Given the description of an element on the screen output the (x, y) to click on. 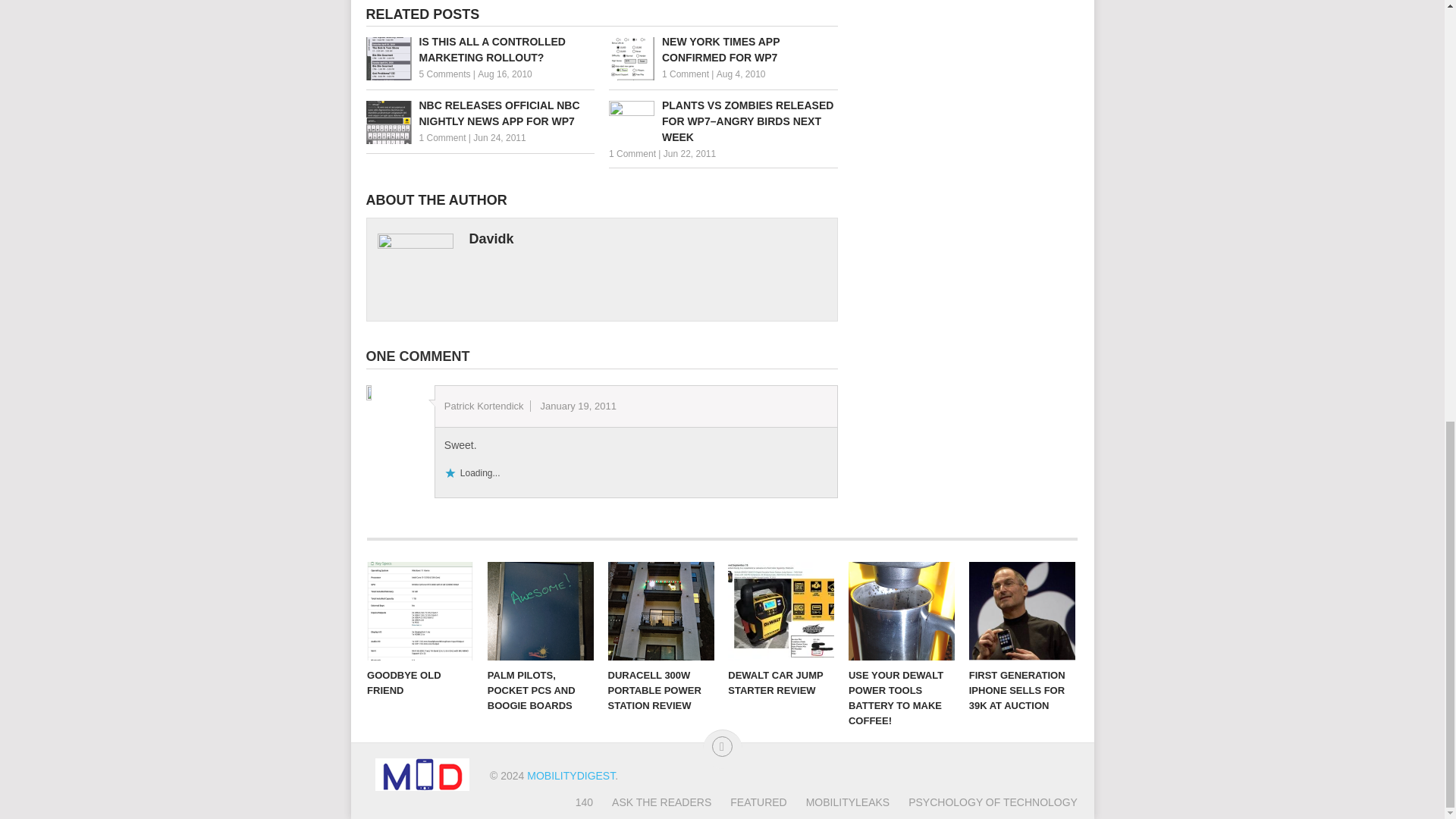
Is This All A Controlled Marketing Rollout? (479, 50)
DURACELL 300W PORTABLE POWER STATION REVIEW (661, 610)
USE YOUR DEWALT POWER TOOLS BATTERY TO MAKE COFFEE! (901, 610)
1 Comment (685, 73)
IS THIS ALL A CONTROLLED MARKETING ROLLOUT? (479, 50)
5 Comments (444, 73)
NBC RELEASES OFFICIAL NBC NIGHTLY NEWS APP FOR WP7 (479, 113)
GOODBYE OLD FRIEND (419, 610)
Patrick Kortendick (484, 405)
NEW YORK TIMES APP CONFIRMED FOR WP7 (723, 50)
